Given the description of an element on the screen output the (x, y) to click on. 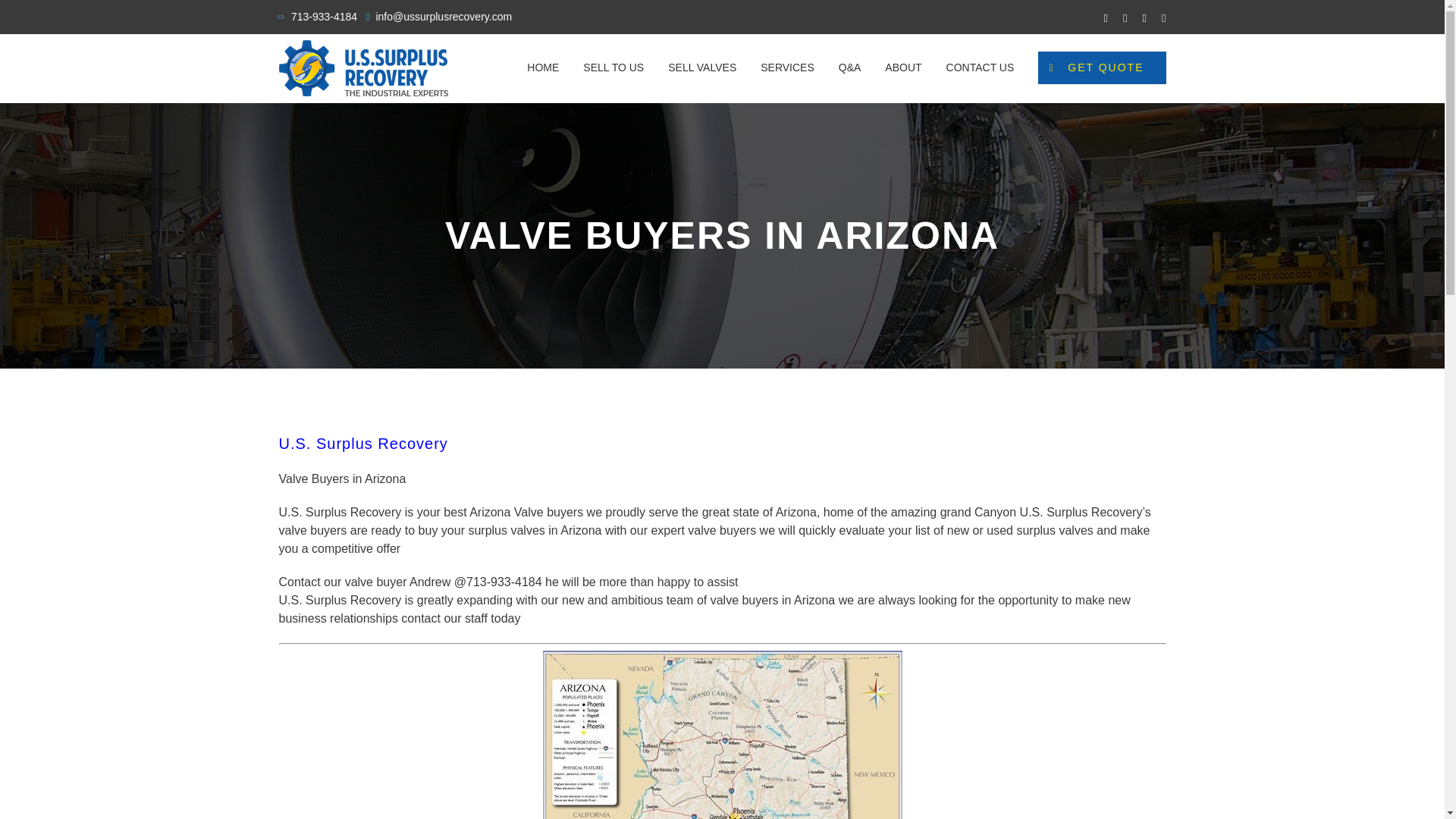
SELL VALVES (702, 67)
GET QUOTE (1102, 67)
CONTACT US (980, 67)
SERVICES (786, 67)
713-933-4184 (323, 16)
SELL TO US (613, 67)
